Given the description of an element on the screen output the (x, y) to click on. 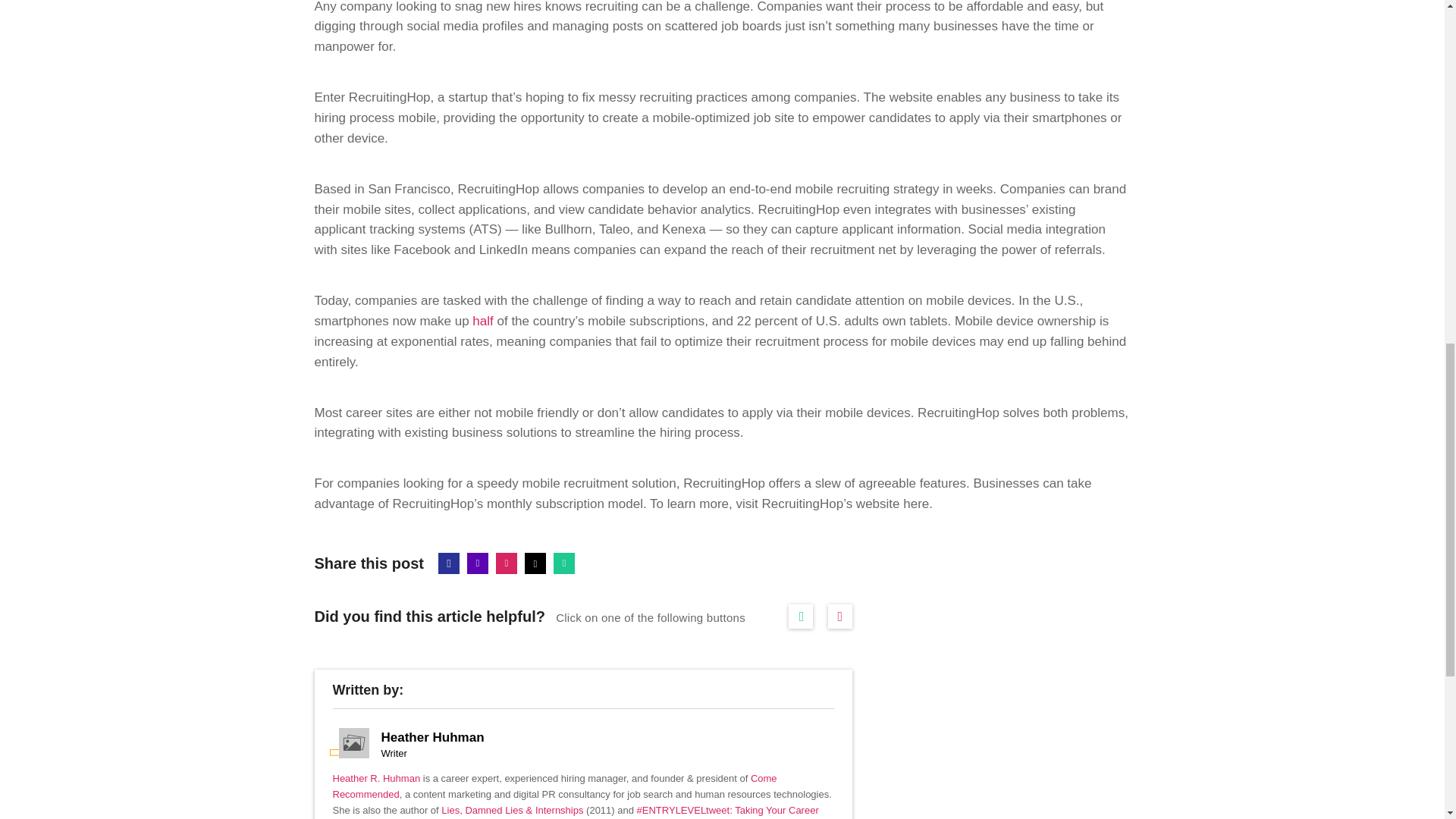
Twitter-x (535, 563)
Linkedin (477, 563)
Whatsapp (564, 563)
Flipboard (506, 563)
Facebook (449, 563)
